Given the description of an element on the screen output the (x, y) to click on. 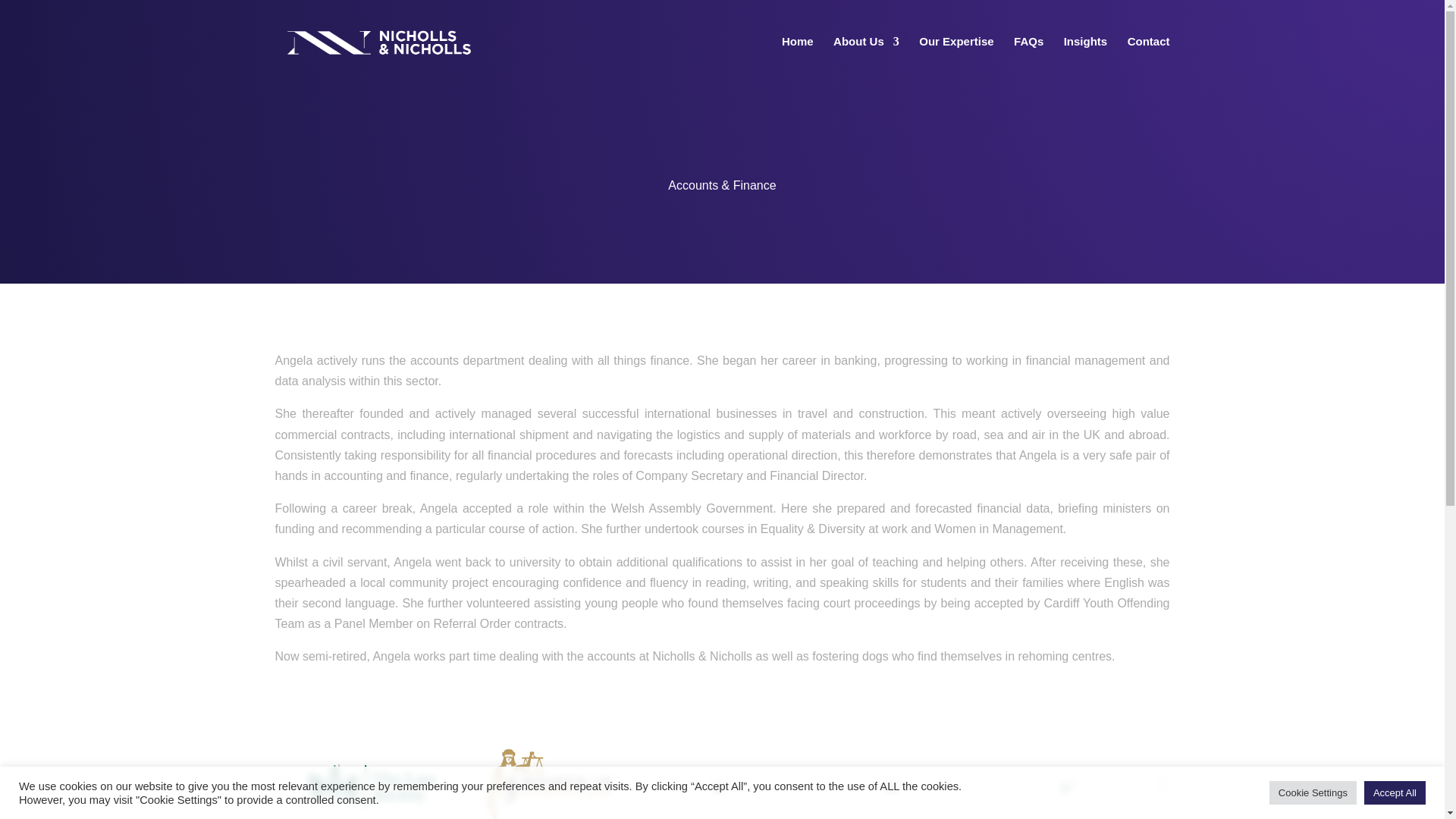
Contact (1148, 59)
About Us (865, 59)
Insights (1086, 59)
Our Expertise (955, 59)
